Given the description of an element on the screen output the (x, y) to click on. 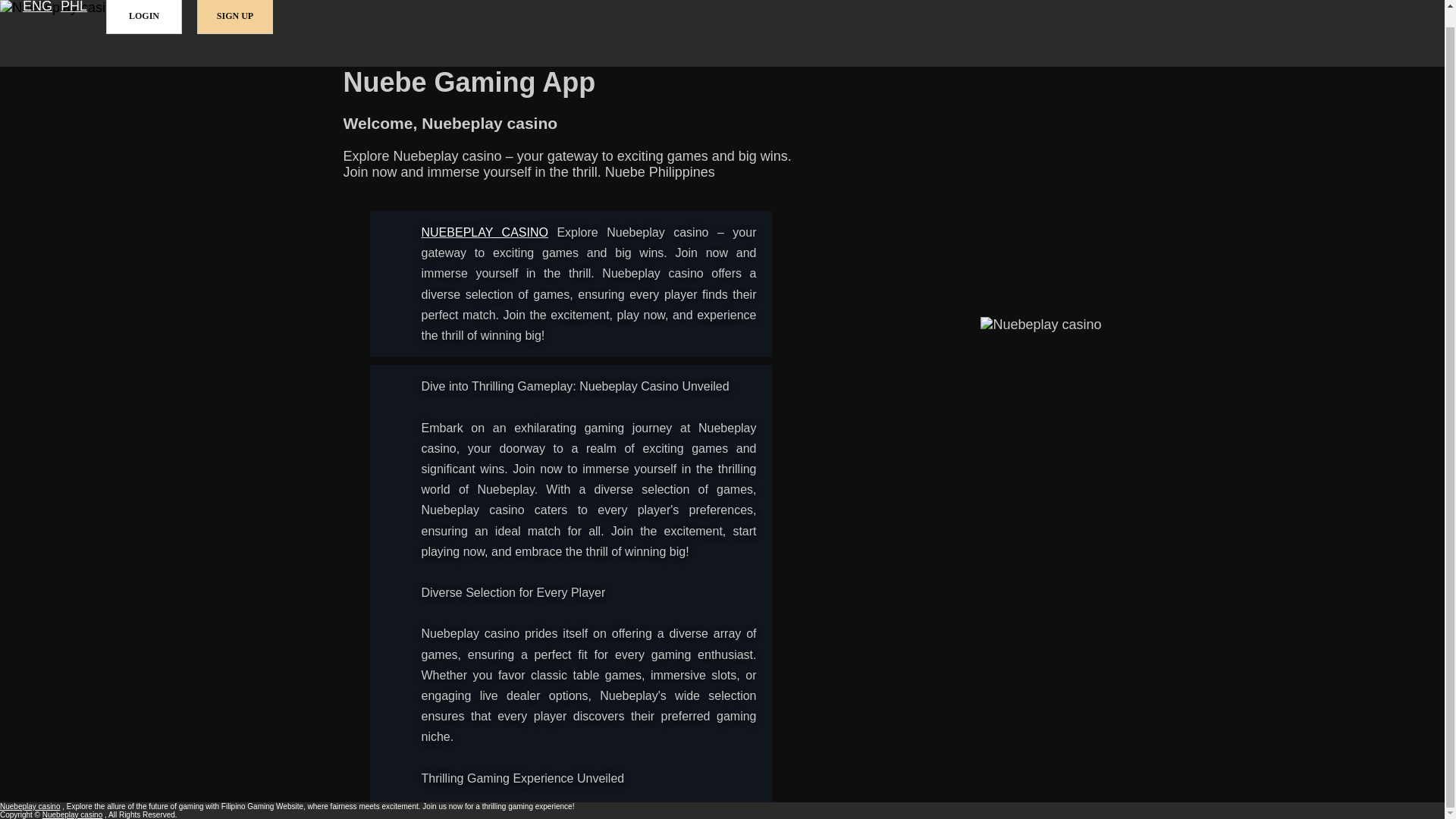
Nuebeplay casino (485, 232)
ENG (37, 7)
NUEBEPLAY CASINO (485, 232)
PHL (74, 7)
English (37, 7)
SIGN UP (234, 17)
Filipino (74, 7)
LOGIN (144, 17)
Nuebeplay casino (30, 806)
